Given the description of an element on the screen output the (x, y) to click on. 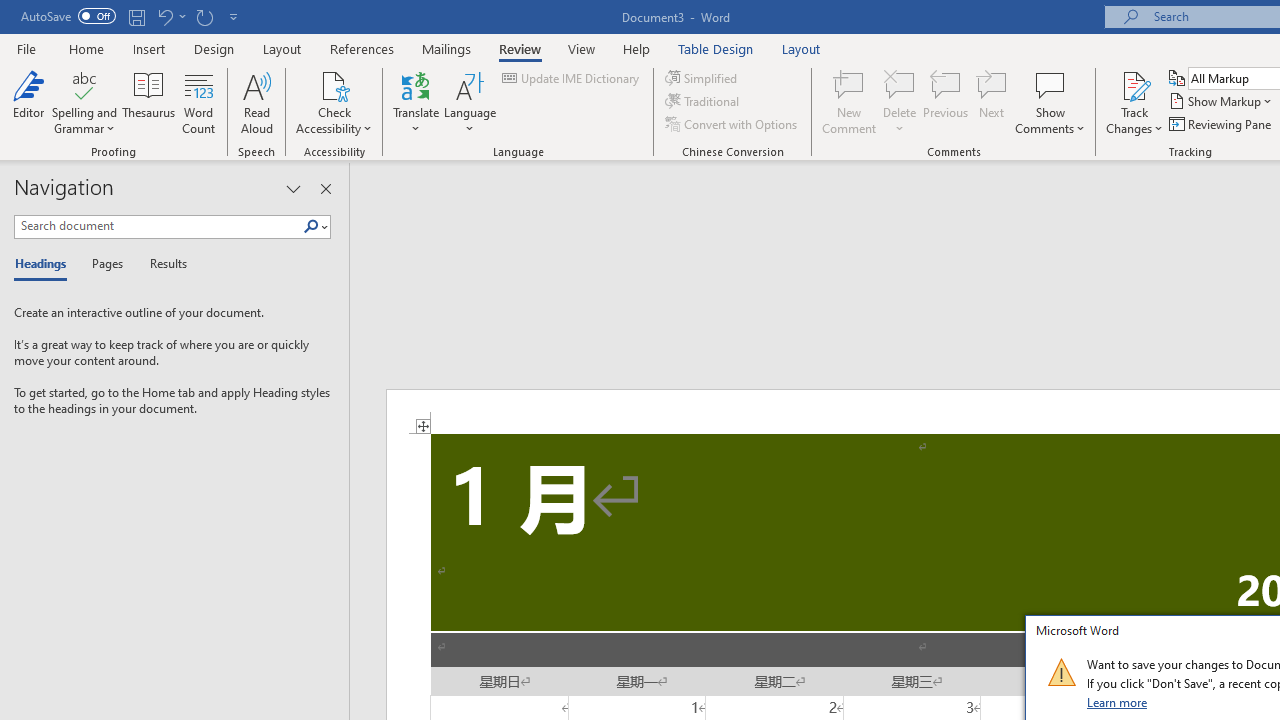
Reviewing Pane (1221, 124)
Show Markup (1222, 101)
Language (470, 102)
Translate (415, 102)
Previous (946, 102)
Check Accessibility (334, 84)
Track Changes (1134, 102)
